Given the description of an element on the screen output the (x, y) to click on. 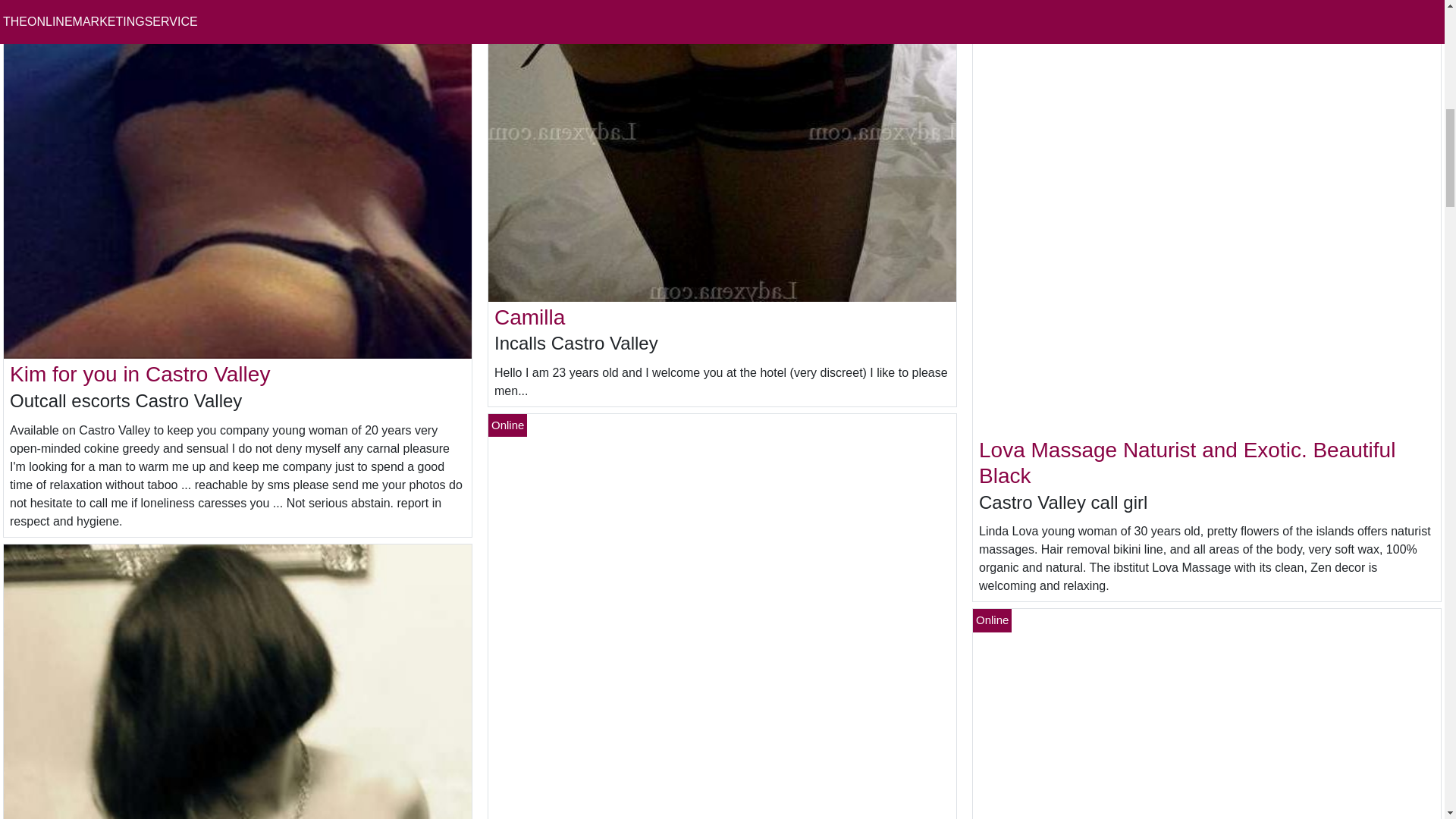
Camilla (529, 317)
Kim for you in Castro Valley (139, 373)
Lova Massage Naturist and Exotic. Beautiful Black (1186, 462)
